Given the description of an element on the screen output the (x, y) to click on. 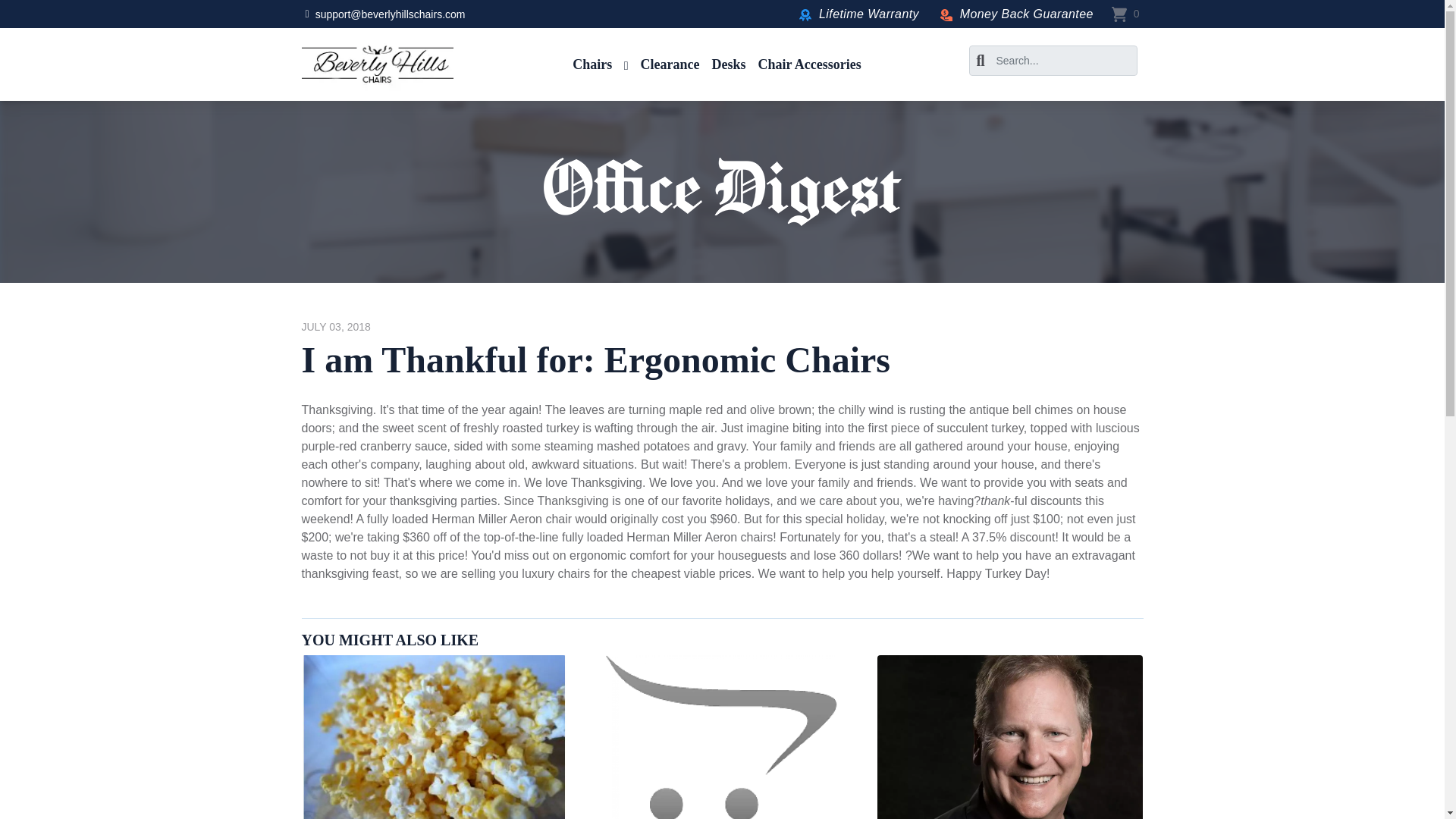
Beverly Hills Chairs (376, 63)
Chair Accessories (809, 64)
Desks (729, 64)
Chairs (599, 64)
0 (1126, 14)
Clearance (670, 64)
